Given the description of an element on the screen output the (x, y) to click on. 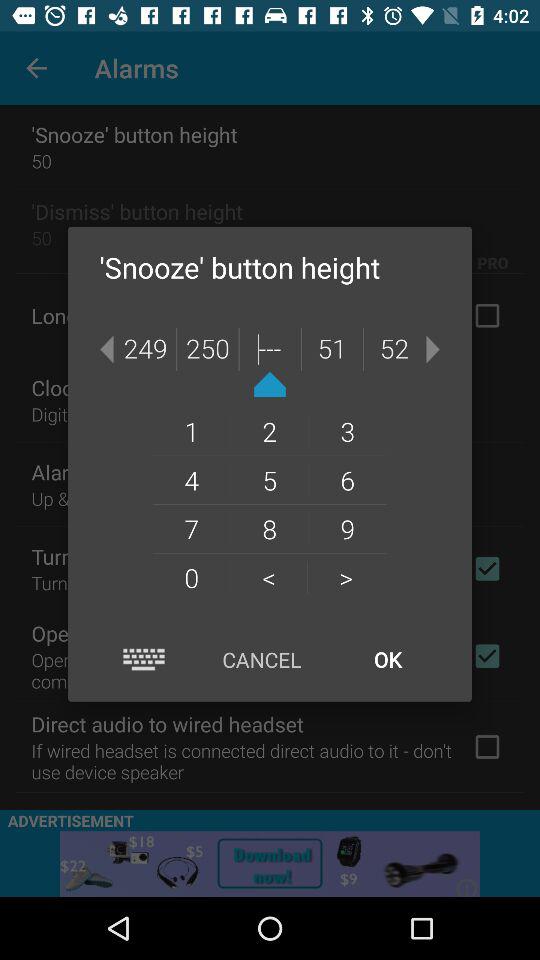
jump until the cancel icon (261, 659)
